Given the description of an element on the screen output the (x, y) to click on. 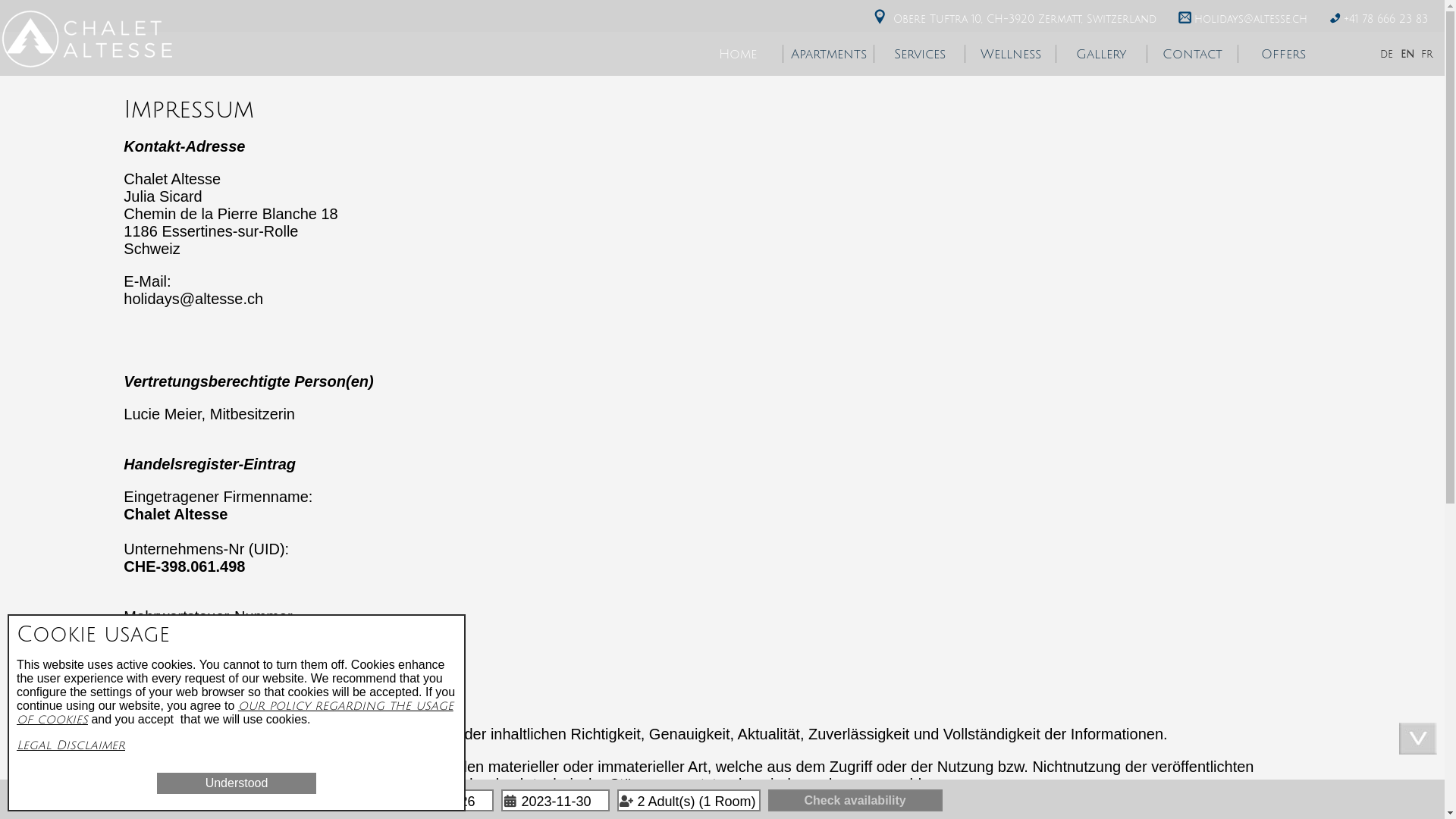
fr Element type: text (1427, 53)
Home Element type: text (737, 53)
Obere Tuftra 10, CH-3920 Zermatt, Switzerland  Element type: text (1026, 19)
2023-11-26 Element type: text (439, 800)
Wellness Element type: text (1010, 53)
2023-11-30 Element type: text (554, 800)
Chalet Altesse - Zermatt Element type: hover (87, 38)
Contact Element type: text (1192, 53)
Legal Disclaimer Element type: text (70, 745)
holidays@altesse.ch Element type: text (1250, 19)
Check availability Element type: text (855, 800)
Scroll-dawn Element type: hover (1418, 738)
our policy regarding the usage of cookies Element type: text (234, 712)
2 Adult(s) (1 Room) Element type: text (688, 800)
Offers Element type: text (1283, 53)
Telefon Element type: hover (1334, 17)
Email Element type: hover (1184, 17)
Services Element type: text (919, 53)
en Element type: text (1407, 53)
de Element type: text (1386, 53)
Gallery Element type: text (1101, 53)
Apartments Element type: text (828, 53)
Adresse Element type: hover (879, 16)
